Given the description of an element on the screen output the (x, y) to click on. 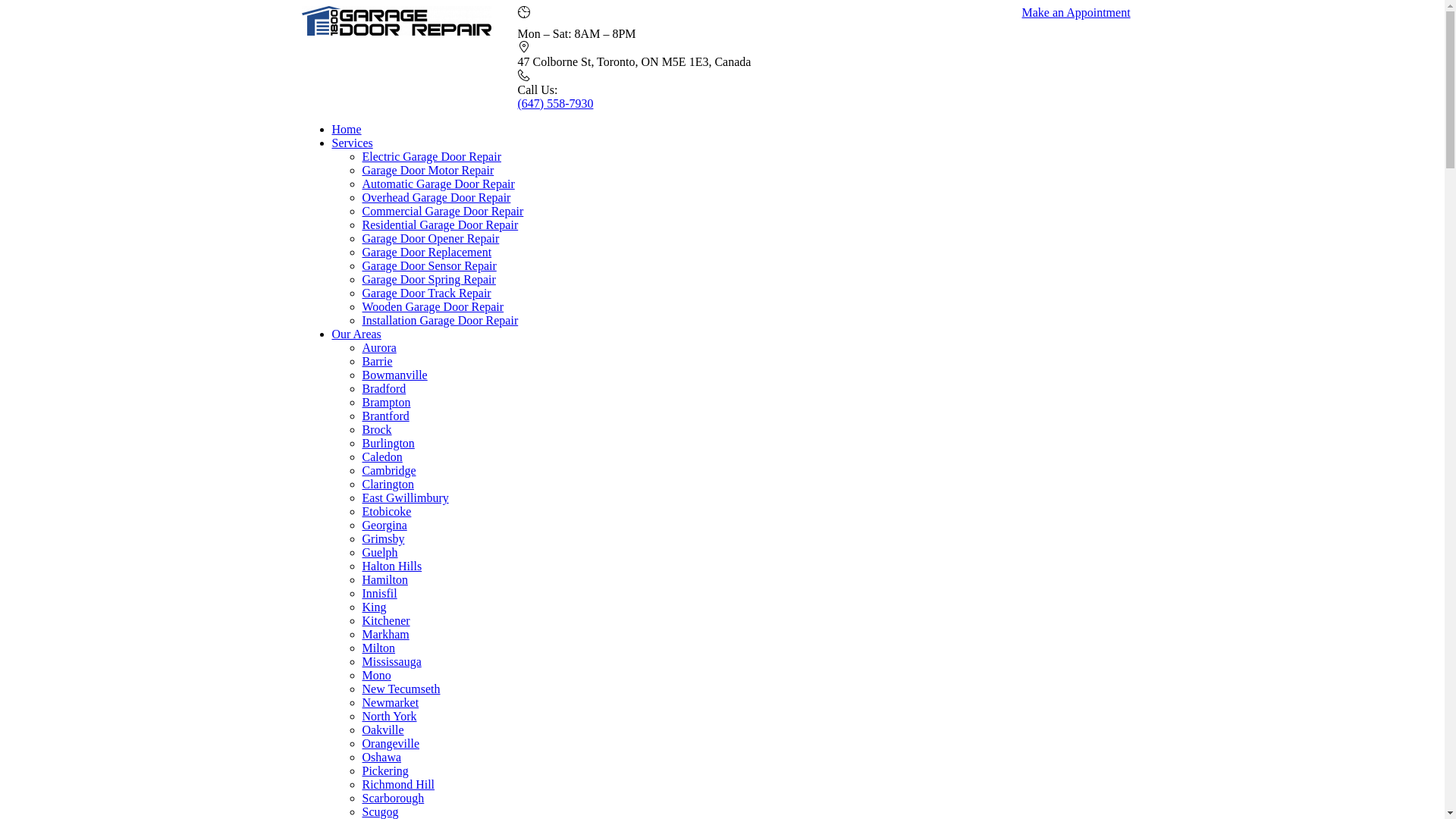
Garage Door Replacement Element type: text (427, 251)
1800 Garage Doors Element type: hover (396, 31)
Orangeville Element type: text (391, 743)
Cambridge Element type: text (389, 470)
Clarington Element type: text (388, 483)
New Tecumseth Element type: text (401, 688)
Oakville Element type: text (383, 729)
Garage Door Track Repair Element type: text (426, 292)
Richmond Hill Element type: text (398, 784)
Brampton Element type: text (386, 401)
Caledon Element type: text (382, 456)
Milton Element type: text (378, 647)
Residential Garage Door Repair Element type: text (440, 224)
Markham Element type: text (385, 633)
Home Element type: text (346, 126)
Aurora Element type: text (379, 347)
Installation Garage Door Repair Element type: text (440, 319)
Brantford Element type: text (385, 415)
Burlington Element type: text (388, 442)
Guelph Element type: text (380, 552)
Oshawa Element type: text (381, 756)
North York Element type: text (389, 715)
East Gwillimbury Element type: text (405, 497)
Make an Appointment Element type: text (1076, 12)
Our Areas Element type: text (356, 333)
(647) 558-7930 Element type: text (555, 100)
Bradford Element type: text (384, 388)
Halton Hills Element type: text (392, 565)
Wooden Garage Door Repair Element type: text (433, 306)
Bowmanville Element type: text (394, 374)
Services Element type: text (352, 140)
Electric Garage Door Repair Element type: text (431, 153)
King Element type: text (374, 606)
Garage Door Opener Repair Element type: text (430, 238)
Georgina Element type: text (384, 524)
Brock Element type: text (377, 429)
Overhead Garage Door Repair Element type: text (436, 194)
Mississauga Element type: text (391, 661)
Pickering Element type: text (385, 770)
Innisfil Element type: text (379, 592)
Newmarket Element type: text (390, 702)
Hamilton Element type: text (384, 579)
Kitchener Element type: text (386, 620)
Garage Door Spring Repair Element type: text (428, 279)
Commercial Garage Door Repair Element type: text (443, 208)
Garage Door Sensor Repair Element type: text (429, 265)
Barrie Element type: text (377, 360)
Grimsby Element type: text (383, 538)
Garage Door Motor Repair Element type: text (428, 167)
Mono Element type: text (376, 674)
Etobicoke Element type: text (386, 511)
Scarborough Element type: text (393, 797)
Automatic Garage Door Repair Element type: text (438, 181)
Scugog Element type: text (380, 811)
